Given the description of an element on the screen output the (x, y) to click on. 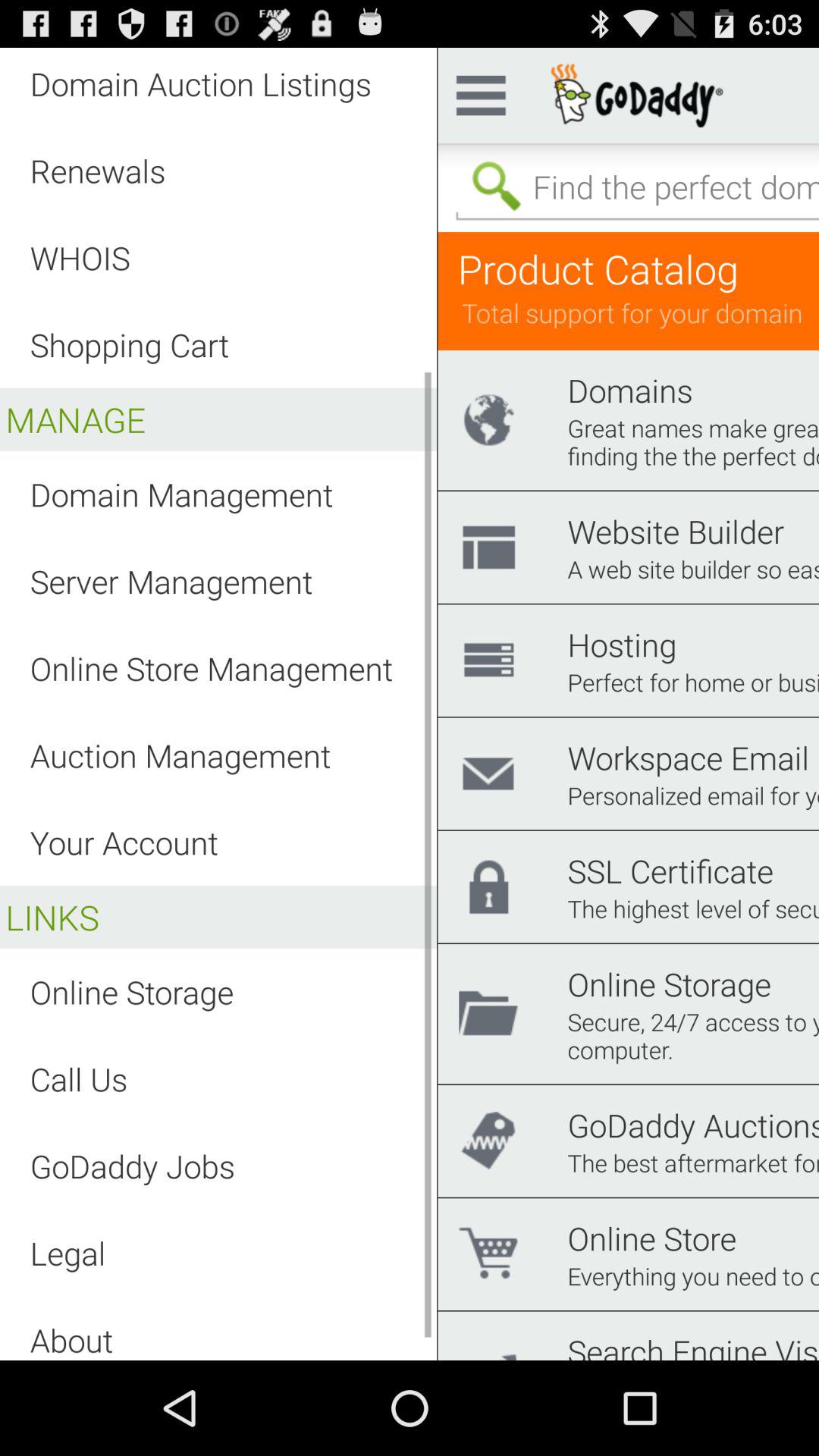
press ssl certificate item (670, 870)
